Given the description of an element on the screen output the (x, y) to click on. 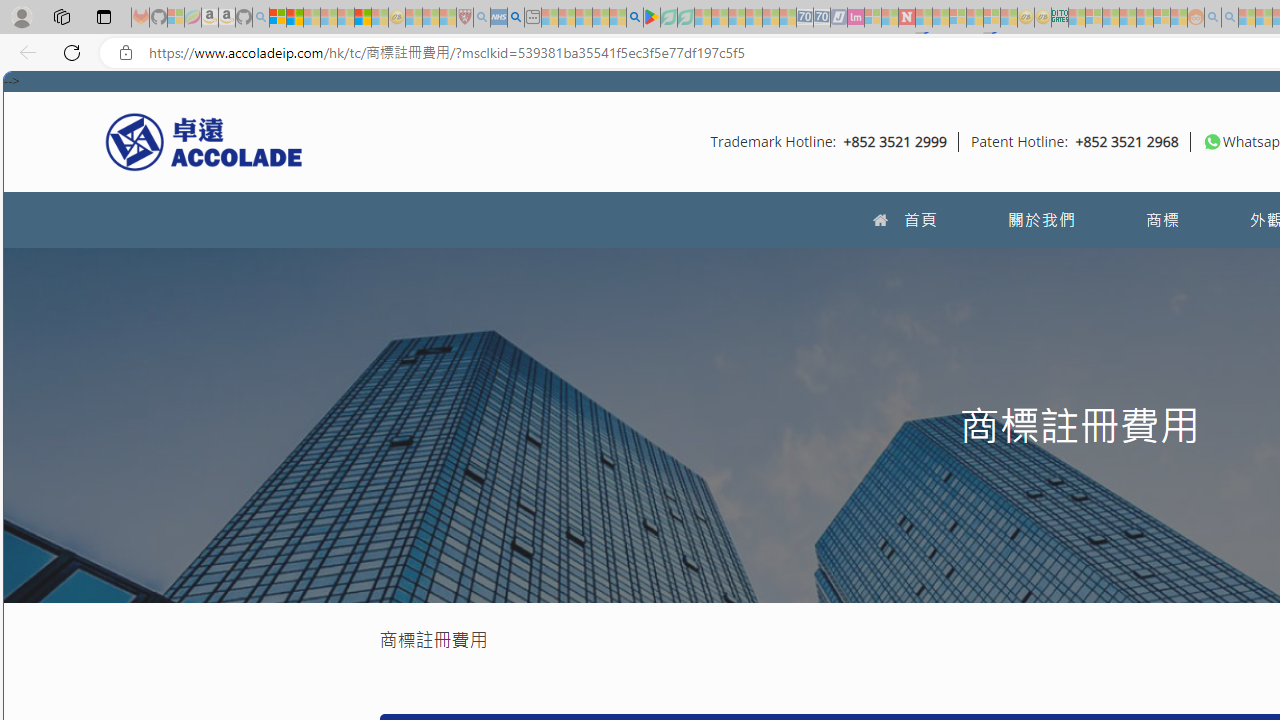
The Weather Channel - MSN - Sleeping (311, 17)
Cheap Car Rentals - Save70.com - Sleeping (804, 17)
DITOGAMES AG Imprint (1059, 17)
NCL Adult Asthma Inhaler Choice Guideline - Sleeping (498, 17)
Trusted Community Engagement and Contributions | Guidelines (923, 17)
New Report Confirms 2023 Was Record Hot | Watch - Sleeping (345, 17)
Terms of Use Agreement - Sleeping (668, 17)
Expert Portfolios - Sleeping (1128, 17)
